Given the description of an element on the screen output the (x, y) to click on. 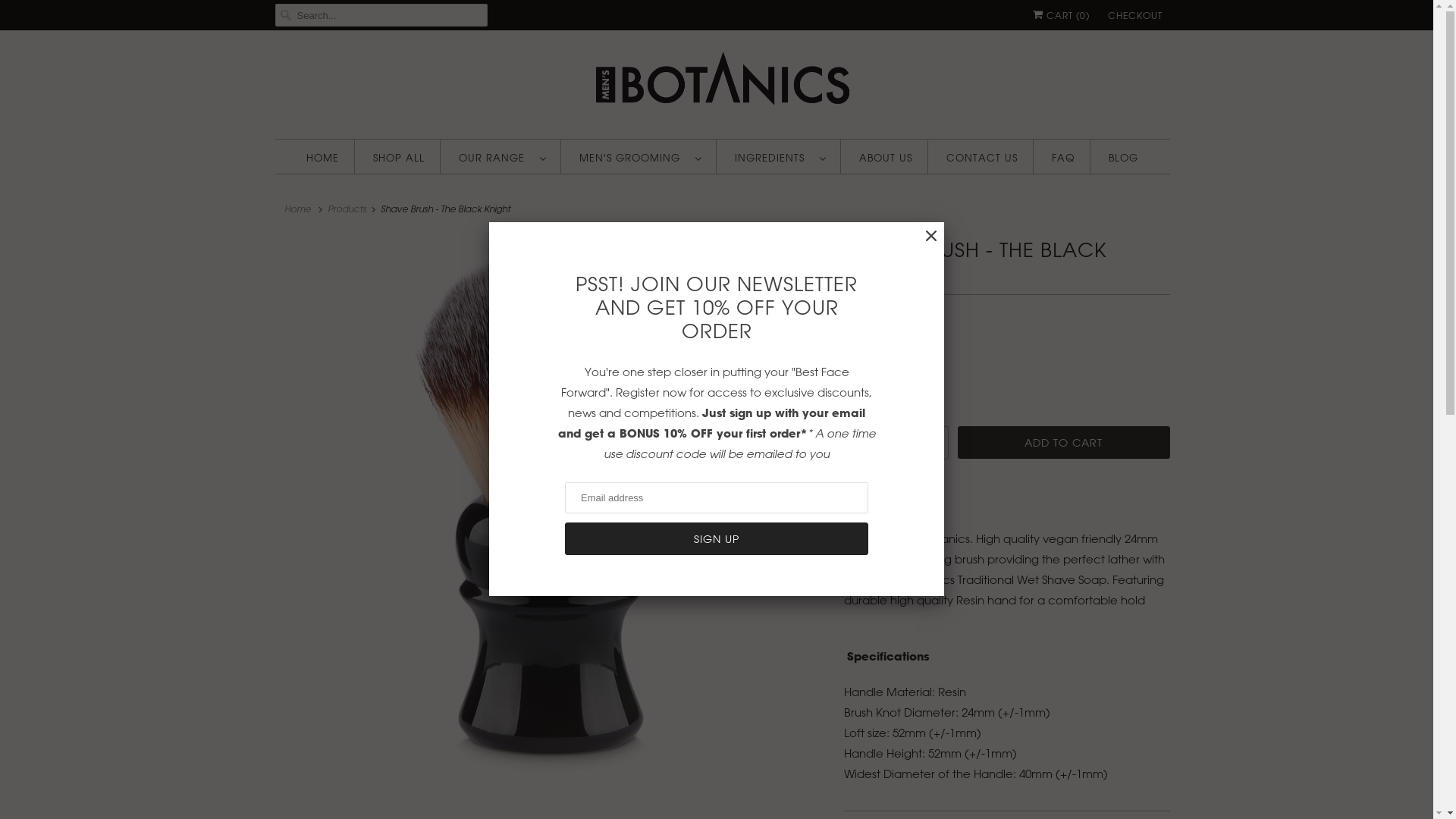
BLOG Element type: text (1123, 157)
OUR RANGE  Element type: text (501, 157)
INGREDIENTS  Element type: text (779, 157)
Close Element type: hover (930, 235)
CONTACT US Element type: text (981, 157)
SHOP ALL Element type: text (398, 157)
HOME Element type: text (322, 157)
MEN'S GROOMING  Element type: text (639, 157)
CHECKOUT Element type: text (1134, 14)
Home Element type: text (297, 208)
FAQ Element type: text (1062, 157)
Mens Botanics Skincare Element type: hover (721, 82)
Sign Up Element type: text (716, 538)
Shave Brush  - The Black Knight Element type: hover (552, 510)
ABOUT US Element type: text (885, 157)
CART (0) Element type: text (1060, 14)
Products Element type: text (346, 208)
ADD TO CART Element type: text (1063, 442)
